Given the description of an element on the screen output the (x, y) to click on. 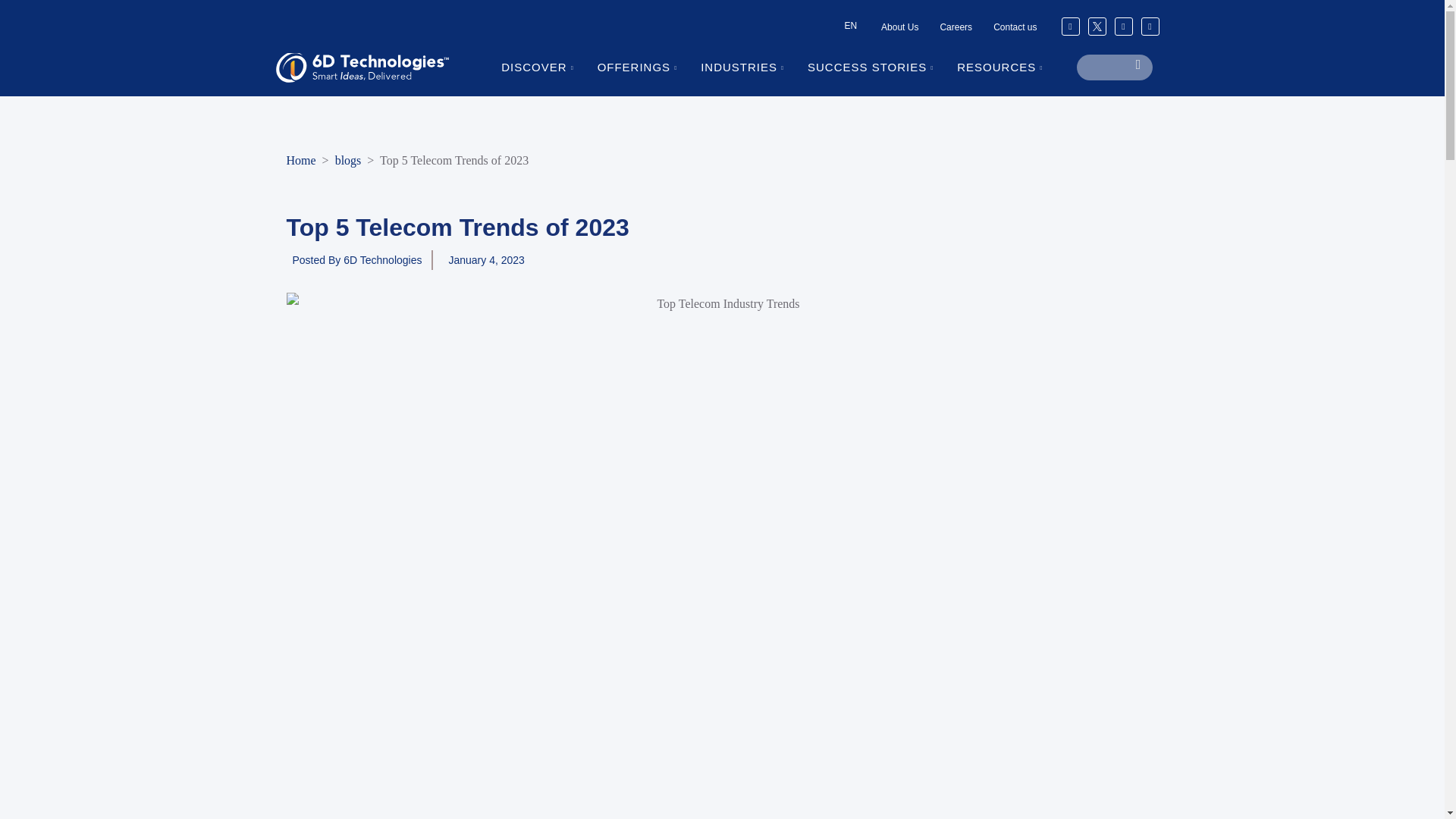
INDUSTRIES (750, 67)
OFFERINGS (646, 67)
RESOURCES (1008, 67)
Careers (955, 27)
DISCOVER (545, 67)
About Us (899, 27)
EN (850, 25)
SUCCESS STORIES (879, 67)
Contact us (1014, 27)
